Given the description of an element on the screen output the (x, y) to click on. 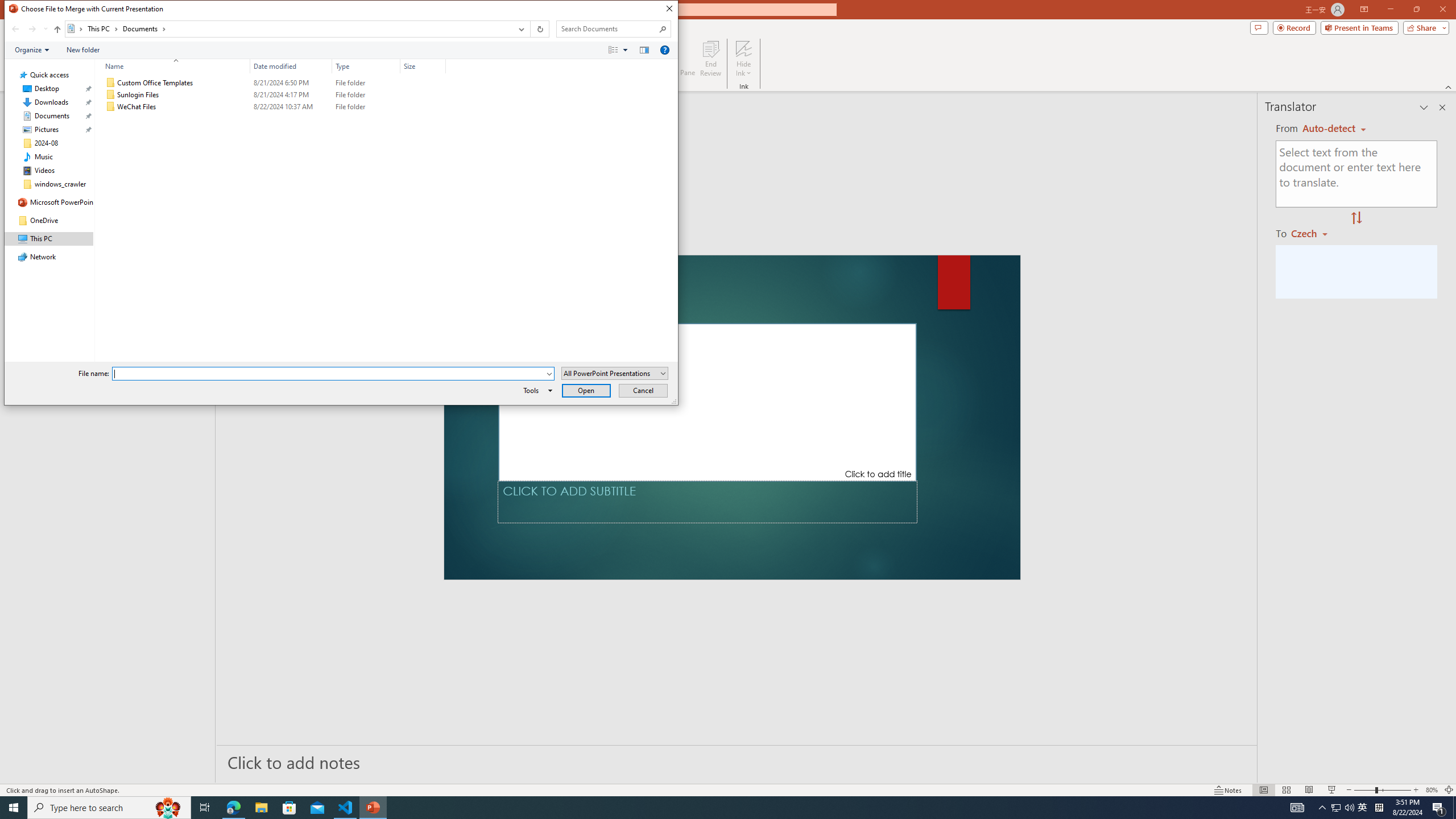
View Slider (625, 49)
Type (365, 106)
Filter dropdown (440, 65)
Files of type: (615, 373)
Date modified (290, 65)
Back (Alt + Left Arrow) (15, 28)
